Given the description of an element on the screen output the (x, y) to click on. 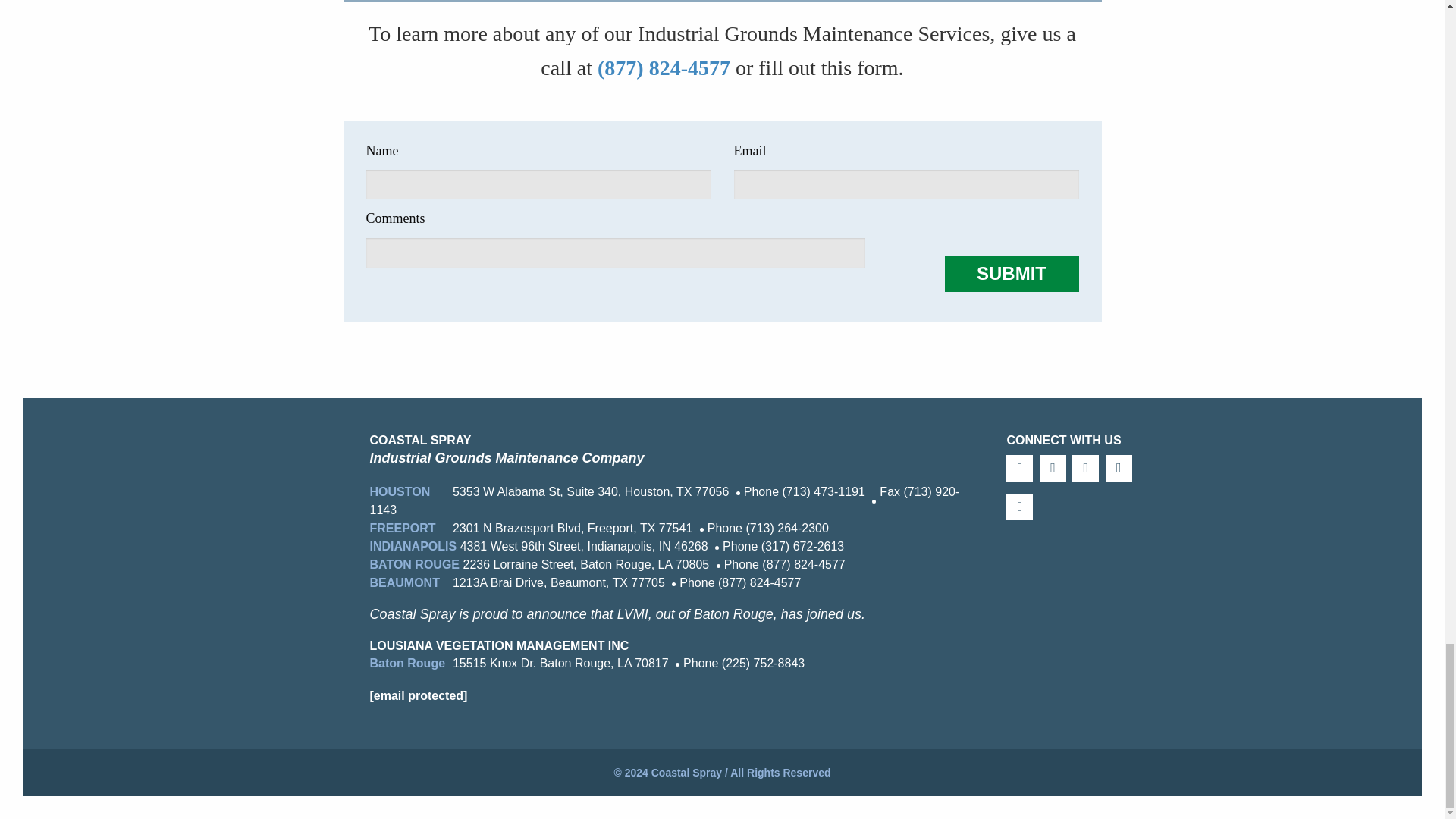
Submit (1011, 273)
